Given the description of an element on the screen output the (x, y) to click on. 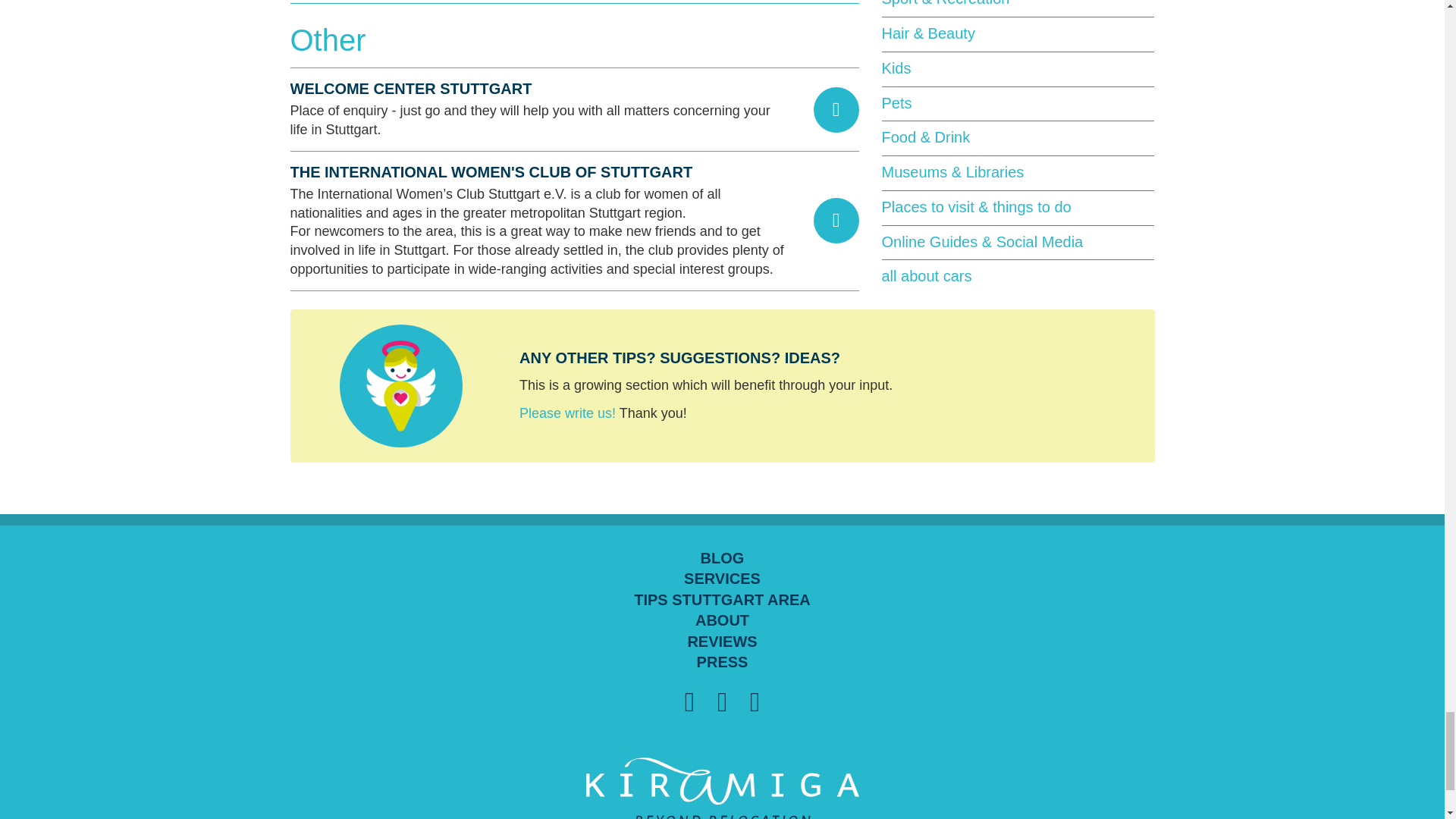
About (722, 620)
Reviews (721, 641)
Tips Stuttgart Area (722, 599)
Services (722, 578)
Visit us on Xing (689, 701)
Look us up on Facebook (722, 701)
Besuchen Sie uns bei Instagram (754, 701)
Press (721, 662)
